Given the description of an element on the screen output the (x, y) to click on. 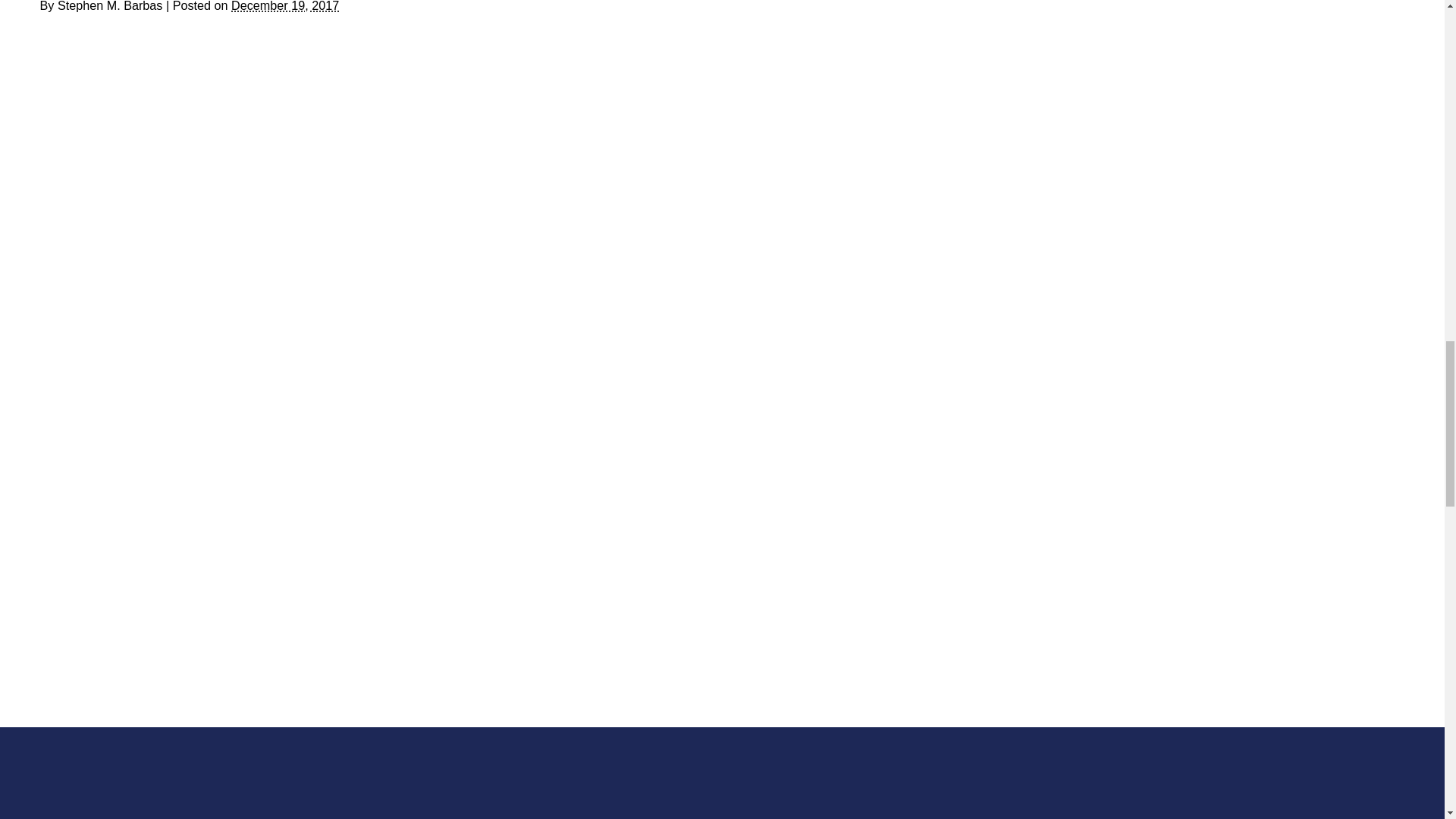
2017-12-19T06:48:28-0800 (285, 6)
